Given the description of an element on the screen output the (x, y) to click on. 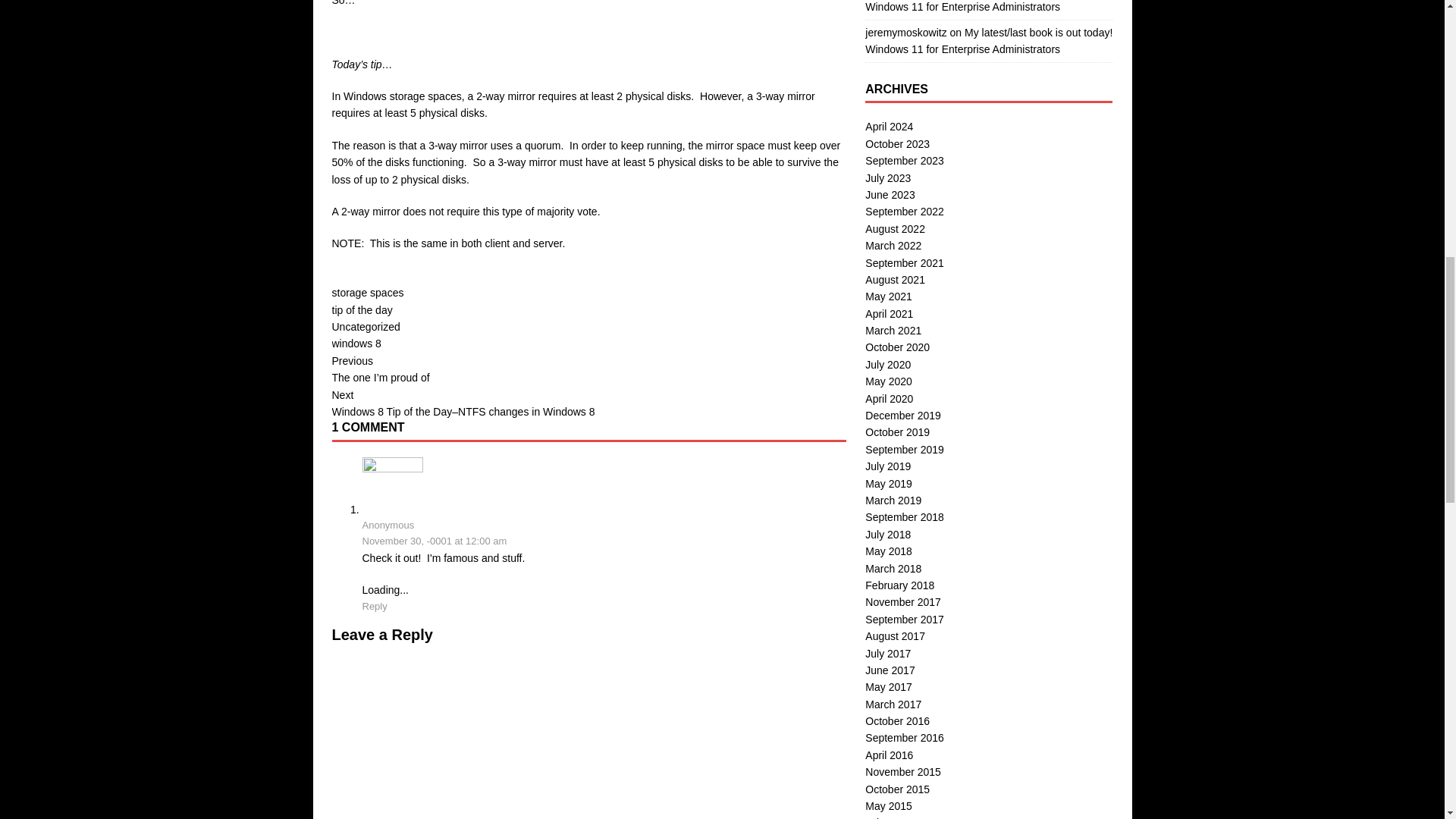
Comment Form (588, 731)
windows 8 (356, 343)
jeremymoskowitz (905, 32)
tip of the day (362, 309)
Uncategorized (365, 326)
November 30, -0001 at 12:00 am (434, 541)
Reply (374, 605)
September 2023 (903, 160)
April 2024 (888, 126)
storage spaces (367, 292)
October 2023 (897, 143)
